Given the description of an element on the screen output the (x, y) to click on. 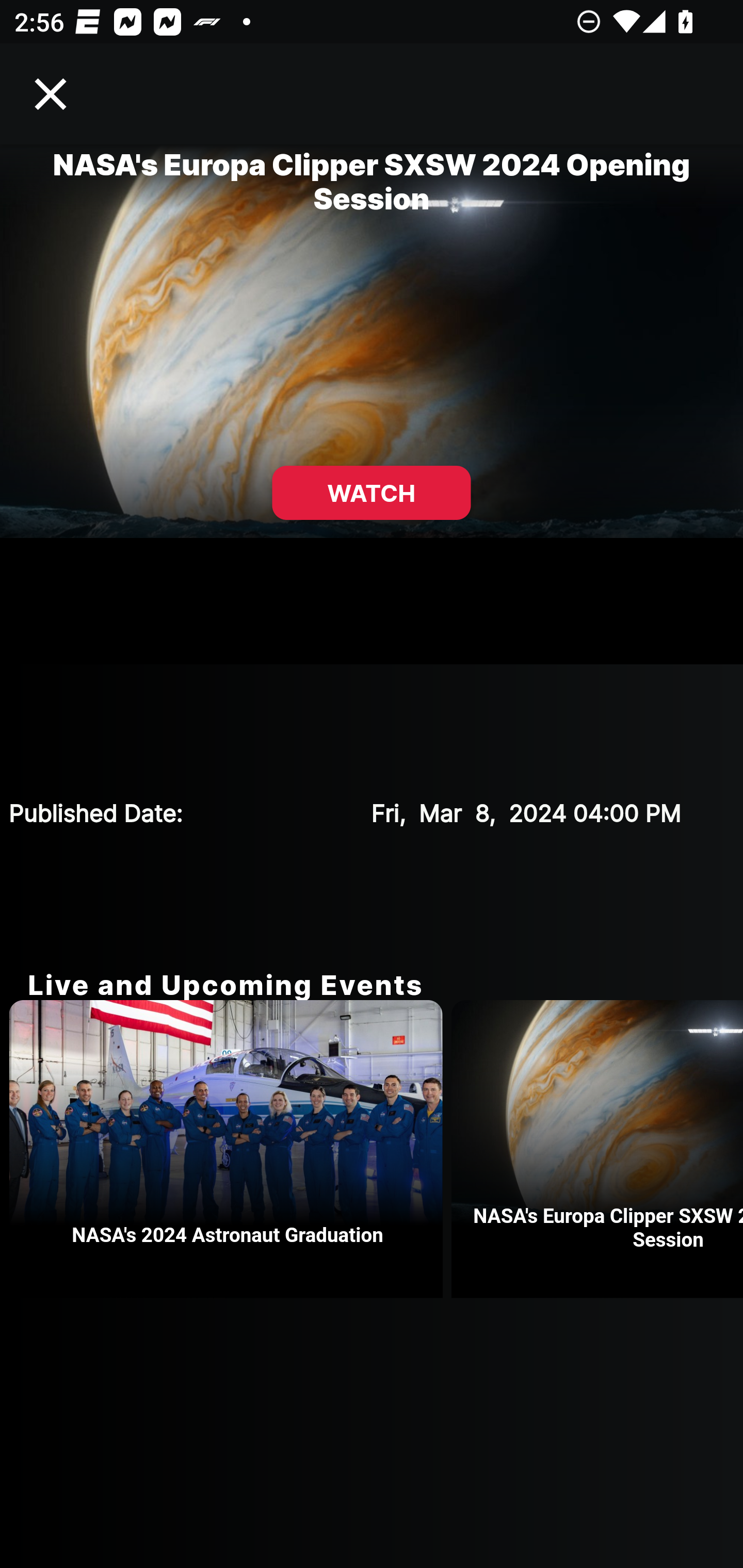
WATCH (371, 492)
NASA's 2024 Astronaut Graduation (229, 1149)
NASA's Europa Clipper SXSW 2024 Opening Session (597, 1149)
